Given the description of an element on the screen output the (x, y) to click on. 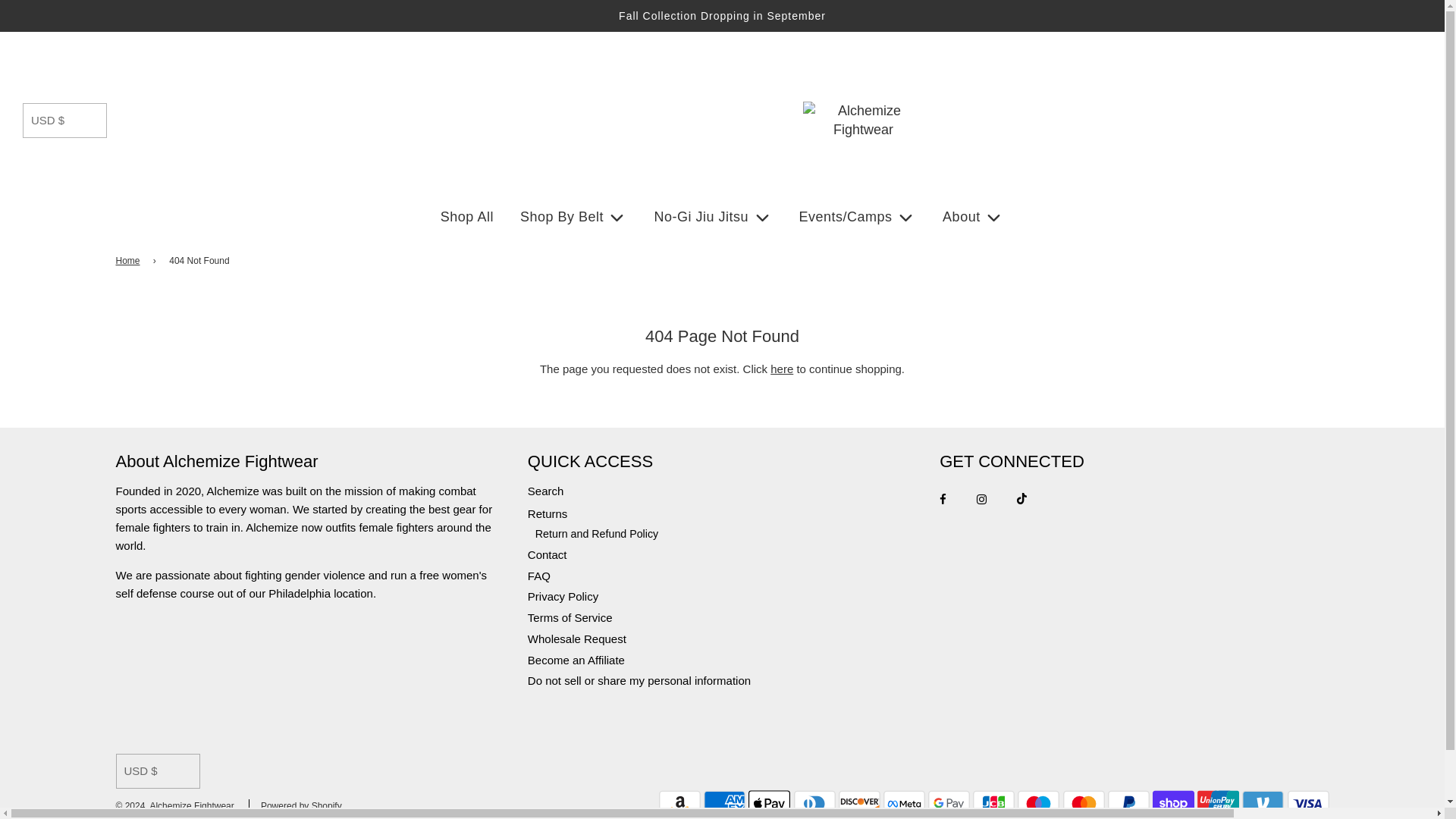
Discover (859, 803)
Apple Pay (769, 803)
Venmo (1262, 803)
Amazon (679, 803)
Shop Pay (1173, 803)
Union Pay (1217, 803)
Fall Collection Dropping in September (722, 15)
Mastercard (1083, 803)
Google Pay (948, 803)
Back to the frontpage (129, 260)
